Given the description of an element on the screen output the (x, y) to click on. 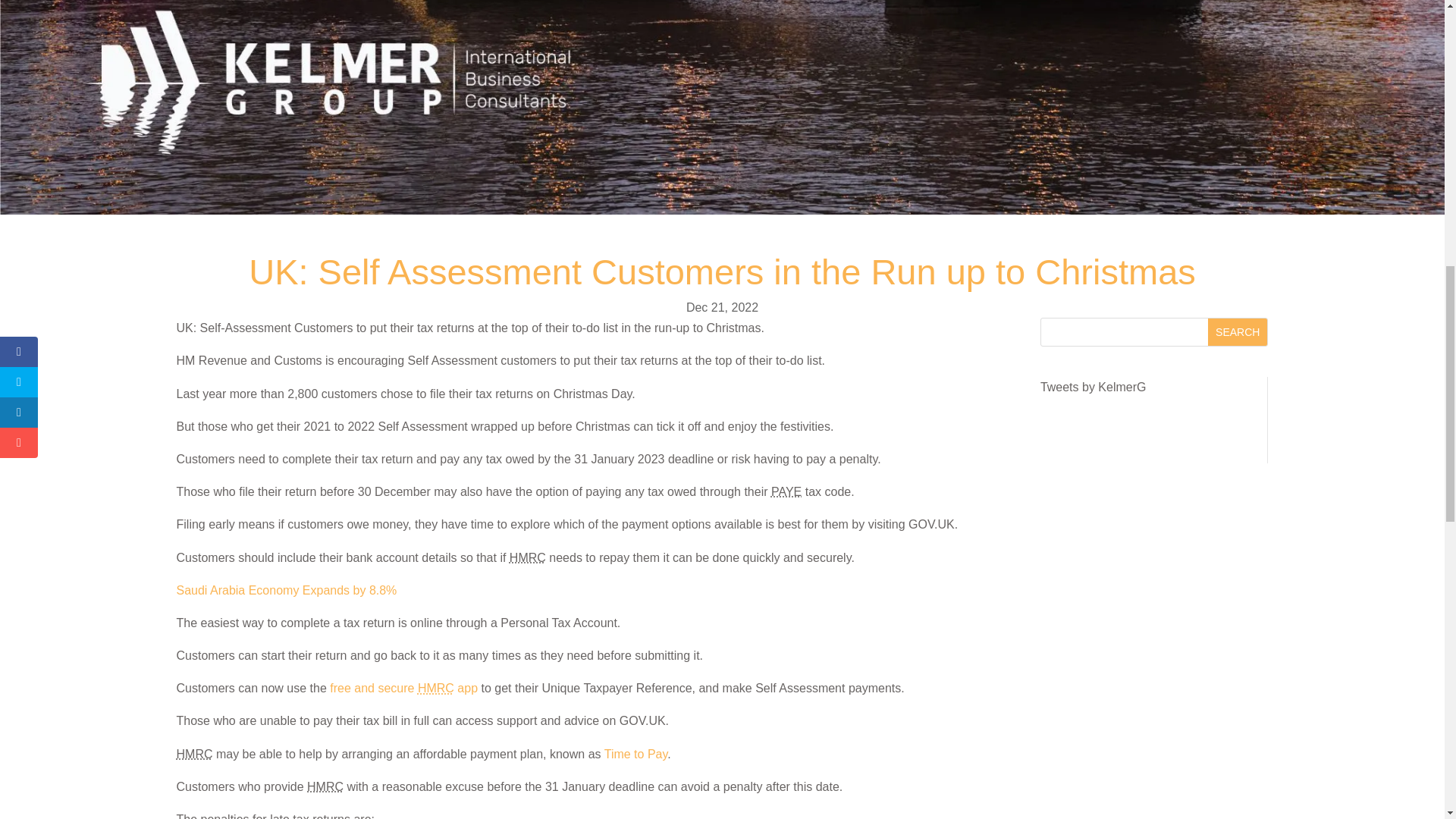
Pay As You Earn (786, 491)
Search (1237, 331)
HM Revenue and Customs (325, 786)
HM Revenue and Customs (527, 557)
Search (1237, 331)
HM Revenue and Customs (435, 687)
HM Revenue and Customs (194, 753)
